Given the description of an element on the screen output the (x, y) to click on. 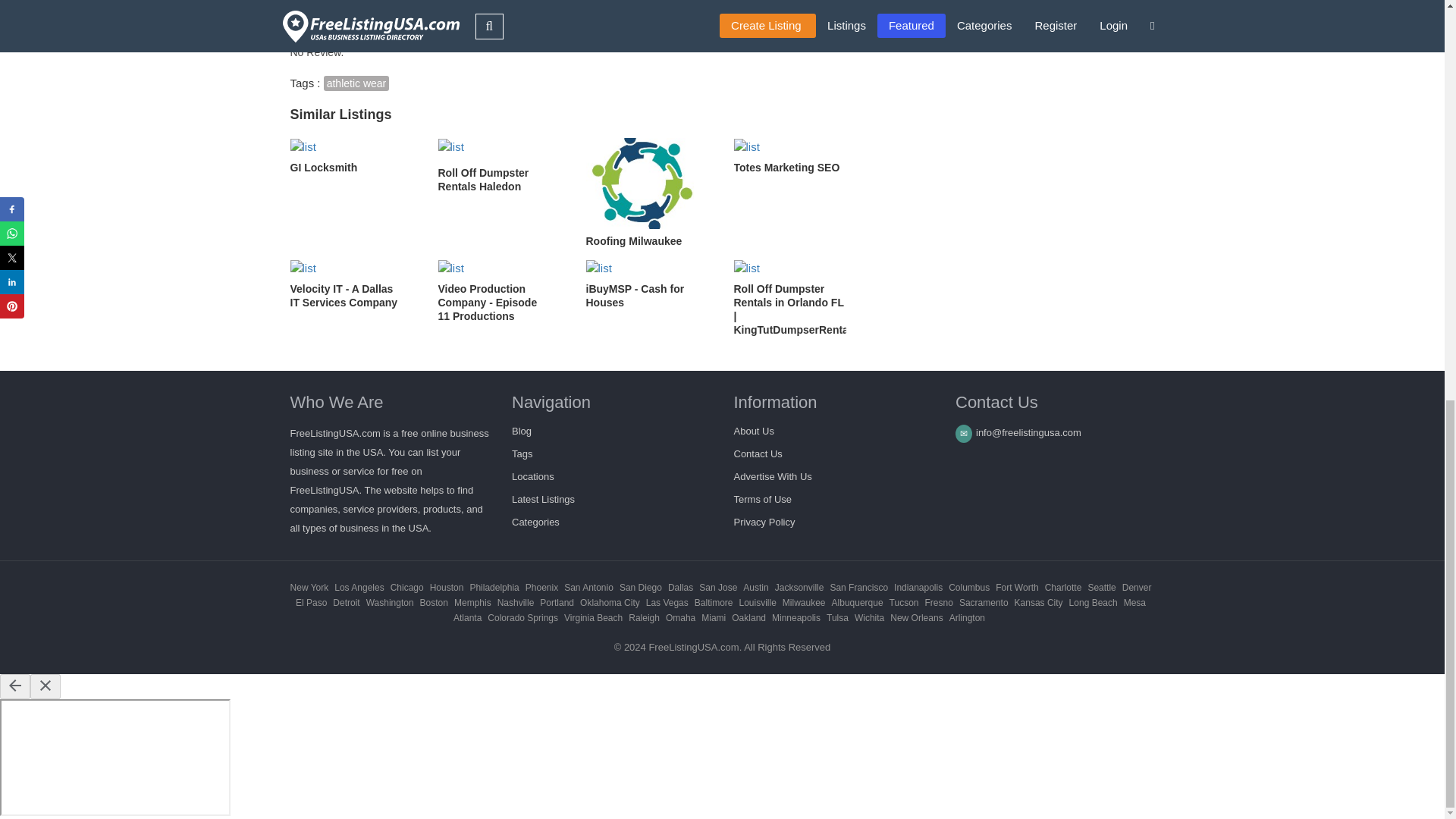
Listing categories (535, 521)
athletic wear (356, 83)
Privacy Policy (763, 521)
Advertise With Us (772, 476)
Write a Review (490, 17)
iBuyMSP - Cash for Houses (647, 284)
Roll Off Dumpster Rentals Haledon (500, 165)
Tags (522, 453)
Local business listing in Chicago (406, 587)
Roofing Milwaukee (647, 193)
